Given the description of an element on the screen output the (x, y) to click on. 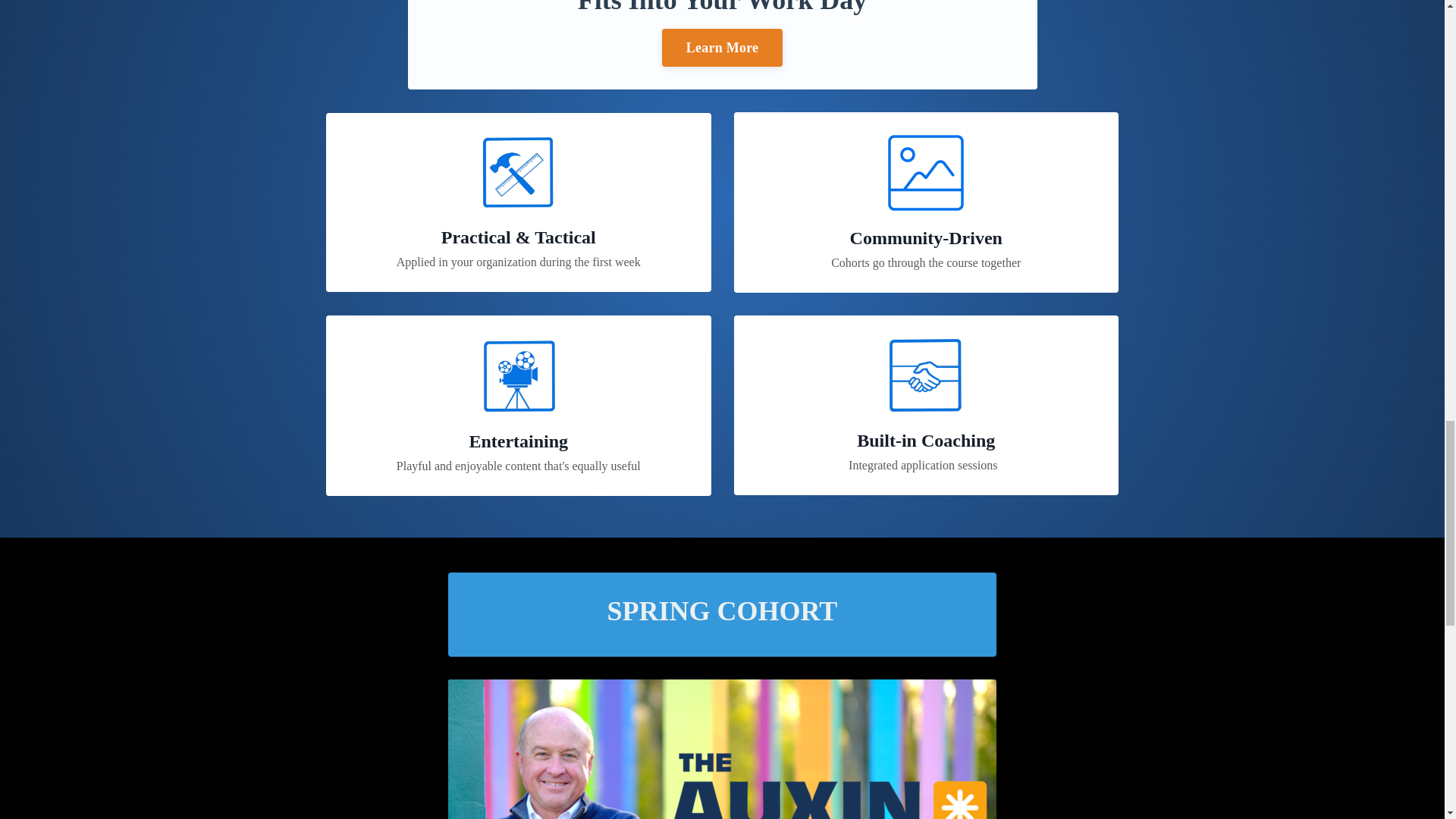
Learn More (722, 47)
